Given the description of an element on the screen output the (x, y) to click on. 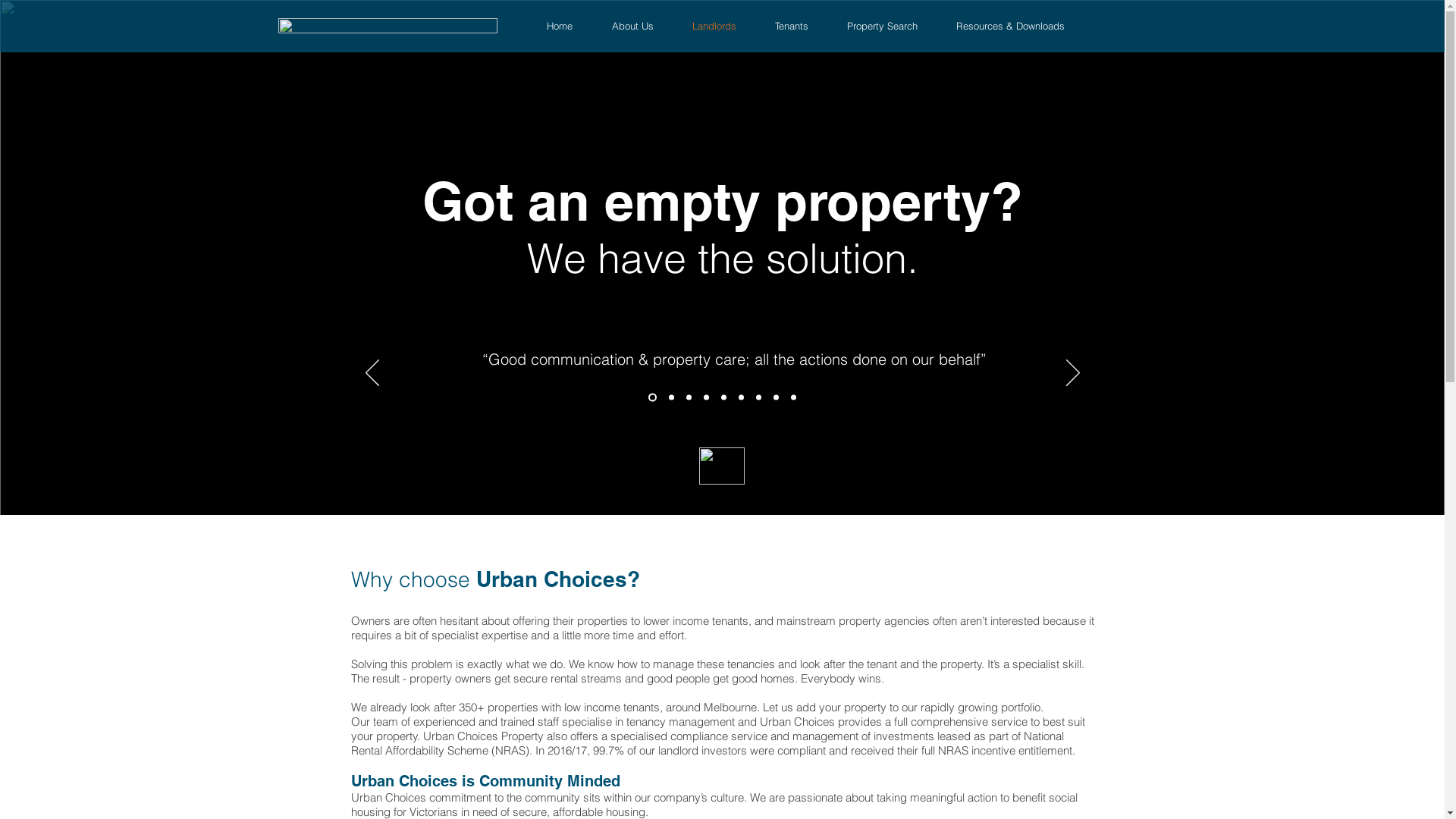
Resources & Downloads Element type: text (1018, 25)
Property Search Element type: text (889, 25)
About Us Element type: text (640, 25)
Tenants Element type: text (798, 25)
Home Element type: text (567, 25)
Landlords Element type: text (721, 25)
